Given the description of an element on the screen output the (x, y) to click on. 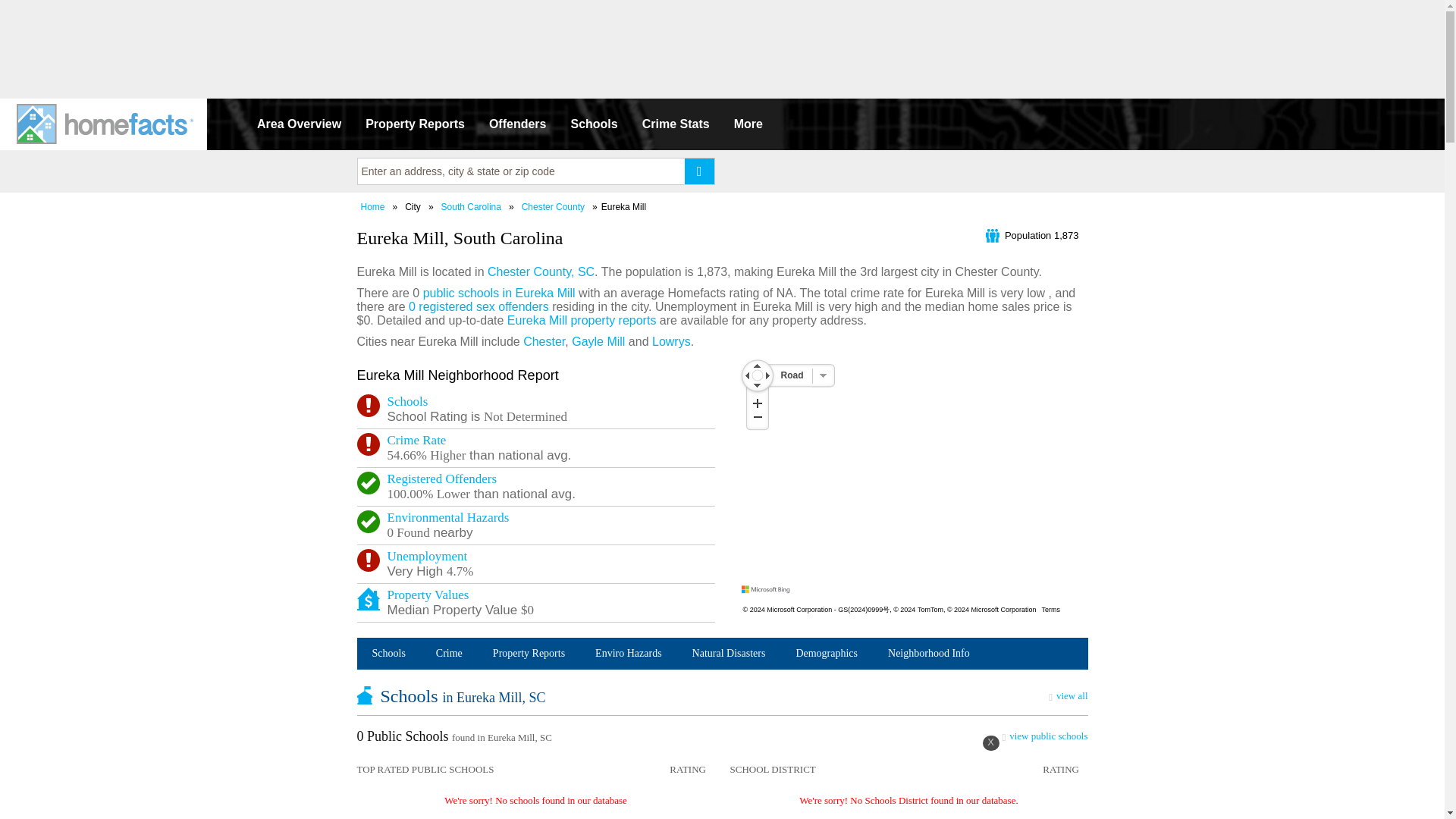
Environmental Hazards (447, 517)
Offenders (518, 123)
Registered Offenders (441, 478)
South Carolina (471, 206)
public schools in Eureka Mill (499, 292)
Crime Stats (676, 123)
Chester County (553, 206)
Area Overview (298, 123)
Chester (543, 341)
3rd party ad content (721, 41)
Schools (407, 400)
Eureka Mill property reports (581, 319)
Environmental Hazards (447, 517)
